Given the description of an element on the screen output the (x, y) to click on. 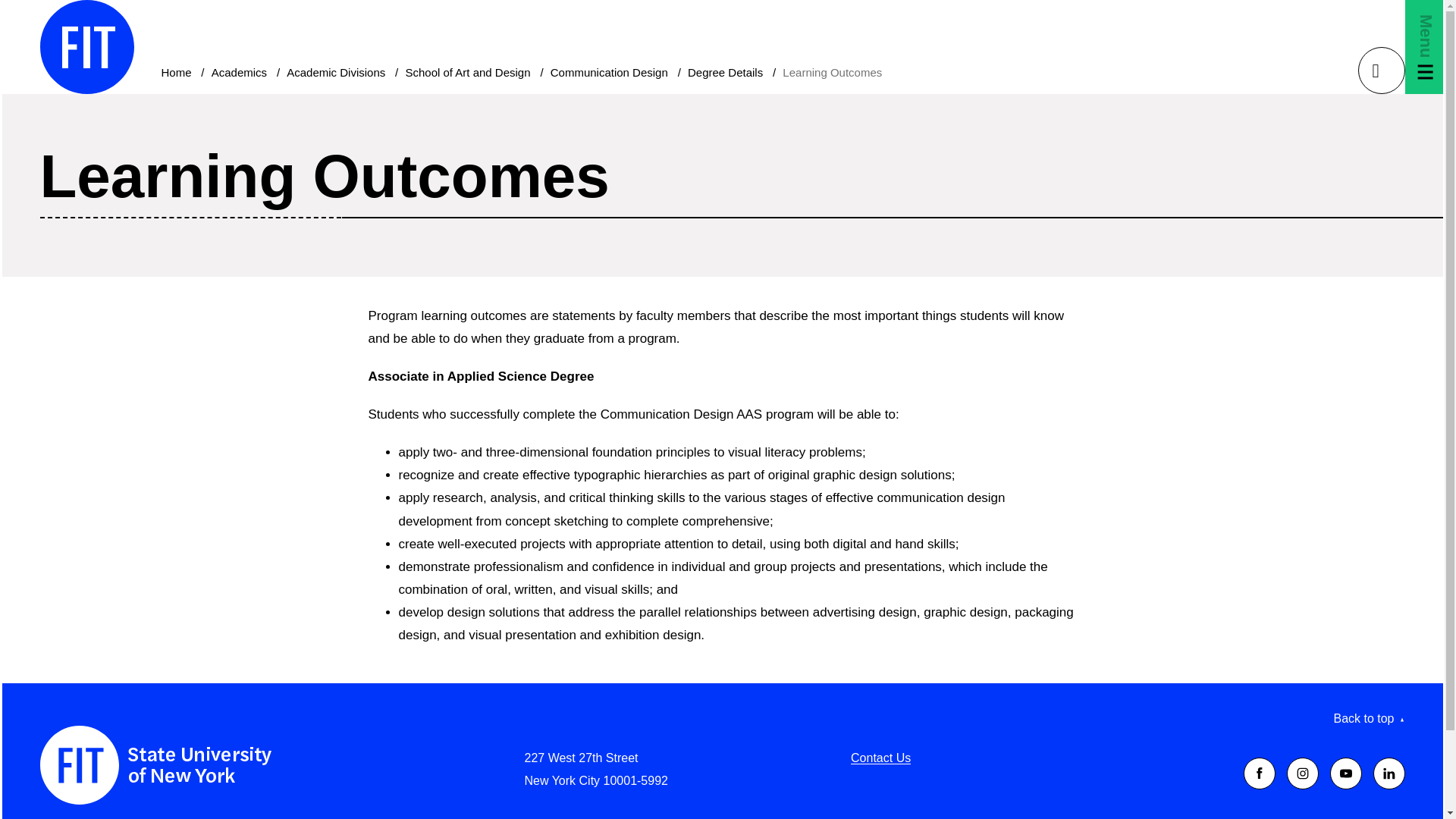
Communication Design (609, 72)
toggle search (1380, 70)
Home (175, 72)
Degree Details (724, 72)
Academic Divisions (335, 72)
School of Art and Design (466, 72)
Academics (238, 72)
